Given the description of an element on the screen output the (x, y) to click on. 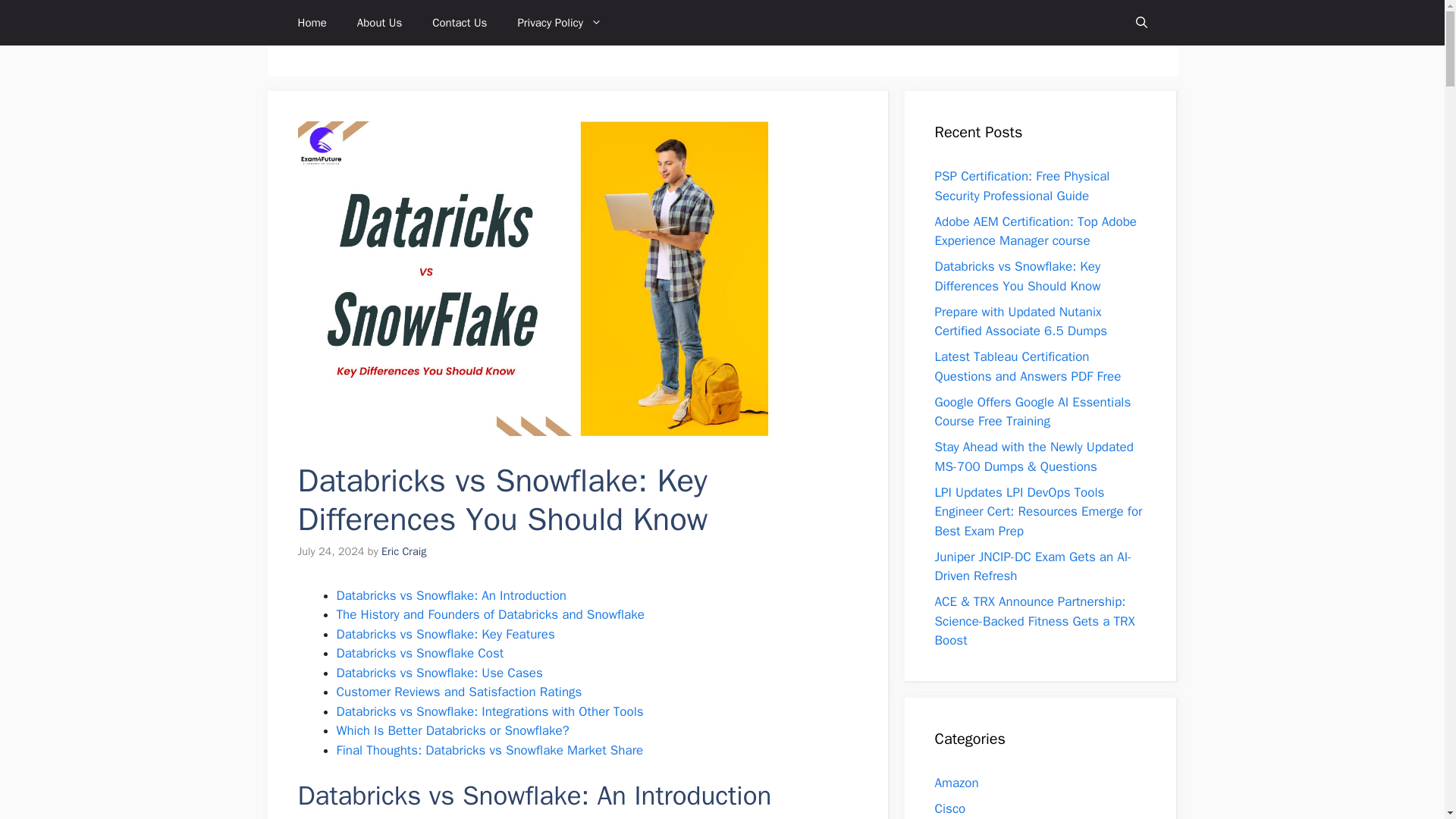
Customer Reviews and Satisfaction Ratings (459, 691)
Privacy Policy (559, 22)
Databricks vs Snowflake: Integrations with Other Tools (489, 711)
About Us (379, 22)
Databricks vs Snowflake: An Introduction (451, 595)
Which Is Better Databricks or Snowflake? (452, 730)
Eric Craig (403, 550)
Databricks vs Snowflake: Key Features (445, 634)
Contact Us (459, 22)
The History and Founders of Databricks and Snowflake (490, 614)
Databricks vs Snowflake Cost (419, 652)
Final Thoughts: Databricks vs Snowflake Market Share (489, 750)
View all posts by Eric Craig (403, 550)
Databricks vs Snowflake: Use Cases (439, 672)
Home (311, 22)
